Given the description of an element on the screen output the (x, y) to click on. 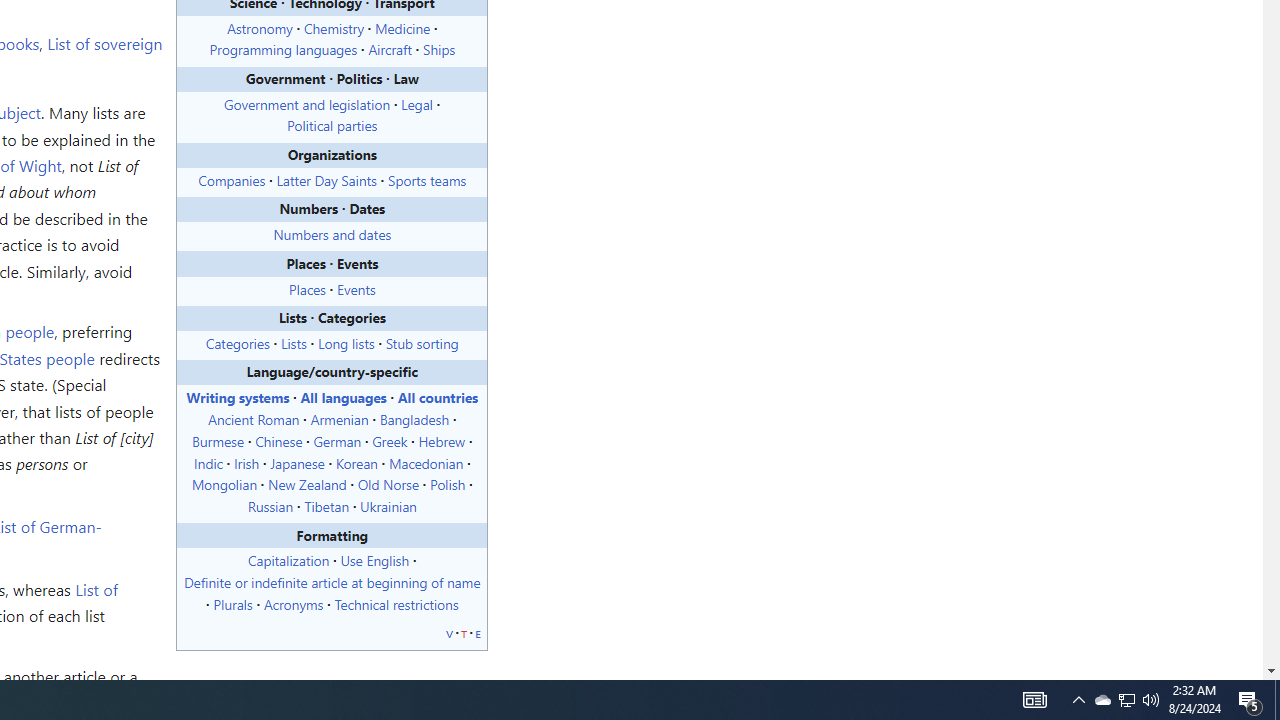
New Zealand (306, 484)
Lists (293, 342)
Plurals (232, 603)
v (449, 632)
Places (307, 288)
Government and legislation (307, 103)
Legal (416, 103)
Aircraft (390, 49)
Chinese (278, 440)
Technical restrictions (396, 603)
Long lists (346, 342)
Numbers and dates (331, 234)
Writing systems (237, 397)
Bangladesh (413, 419)
